Given the description of an element on the screen output the (x, y) to click on. 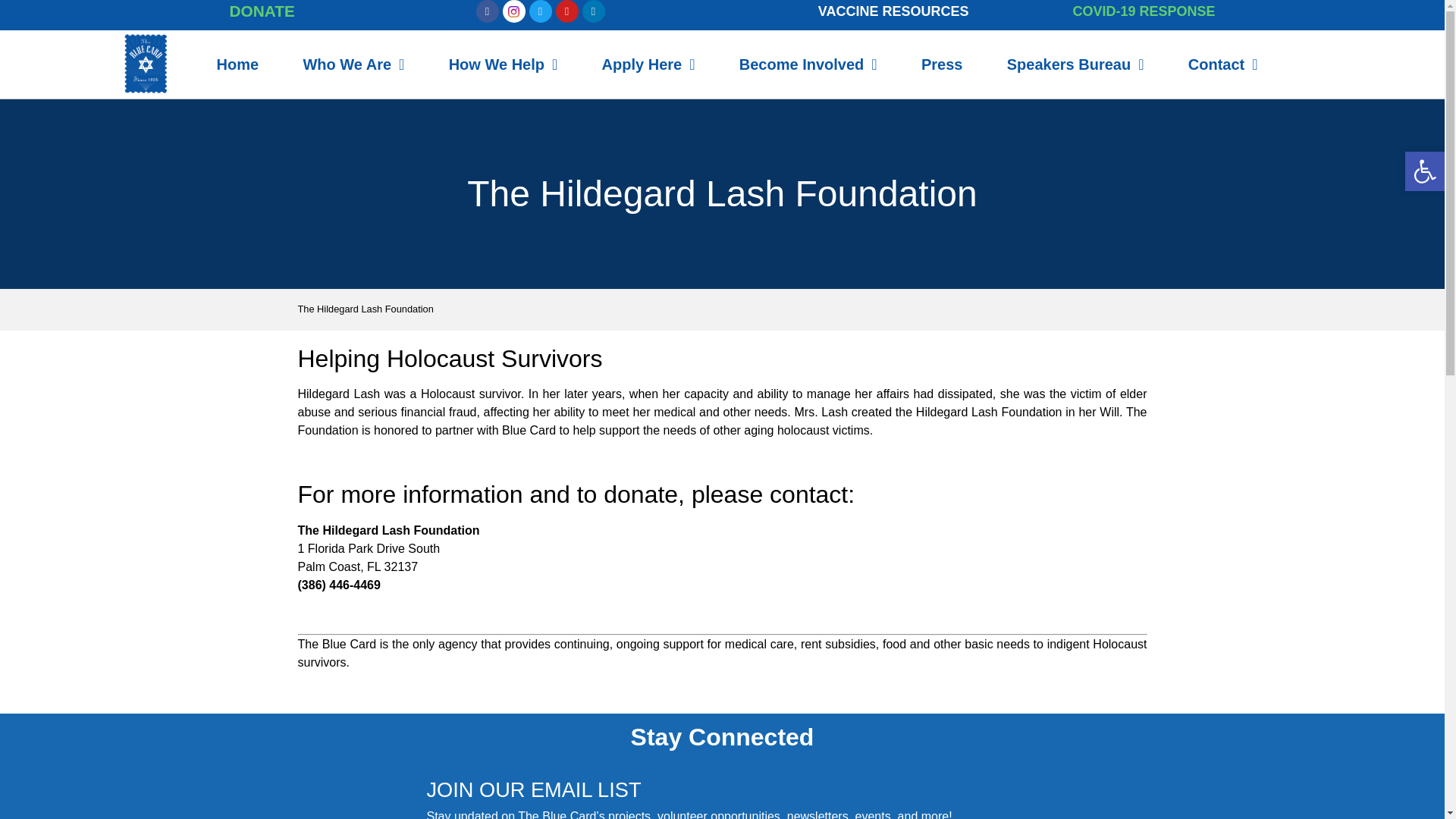
Accessibility Tools (1424, 170)
